Given the description of an element on the screen output the (x, y) to click on. 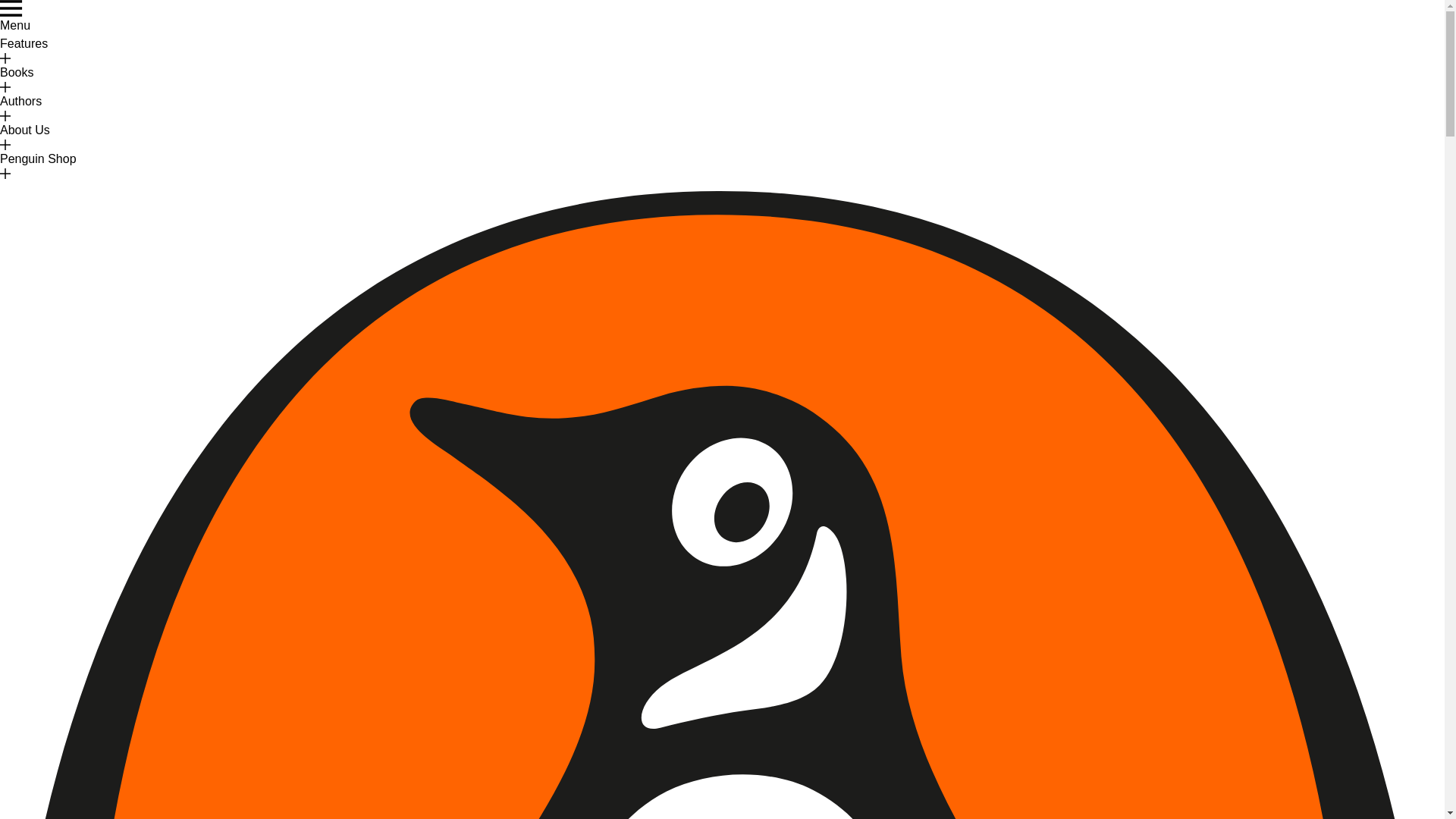
Features (24, 49)
About Us (24, 135)
Penguin Shop (38, 164)
Books (16, 77)
Authors (21, 106)
